Given the description of an element on the screen output the (x, y) to click on. 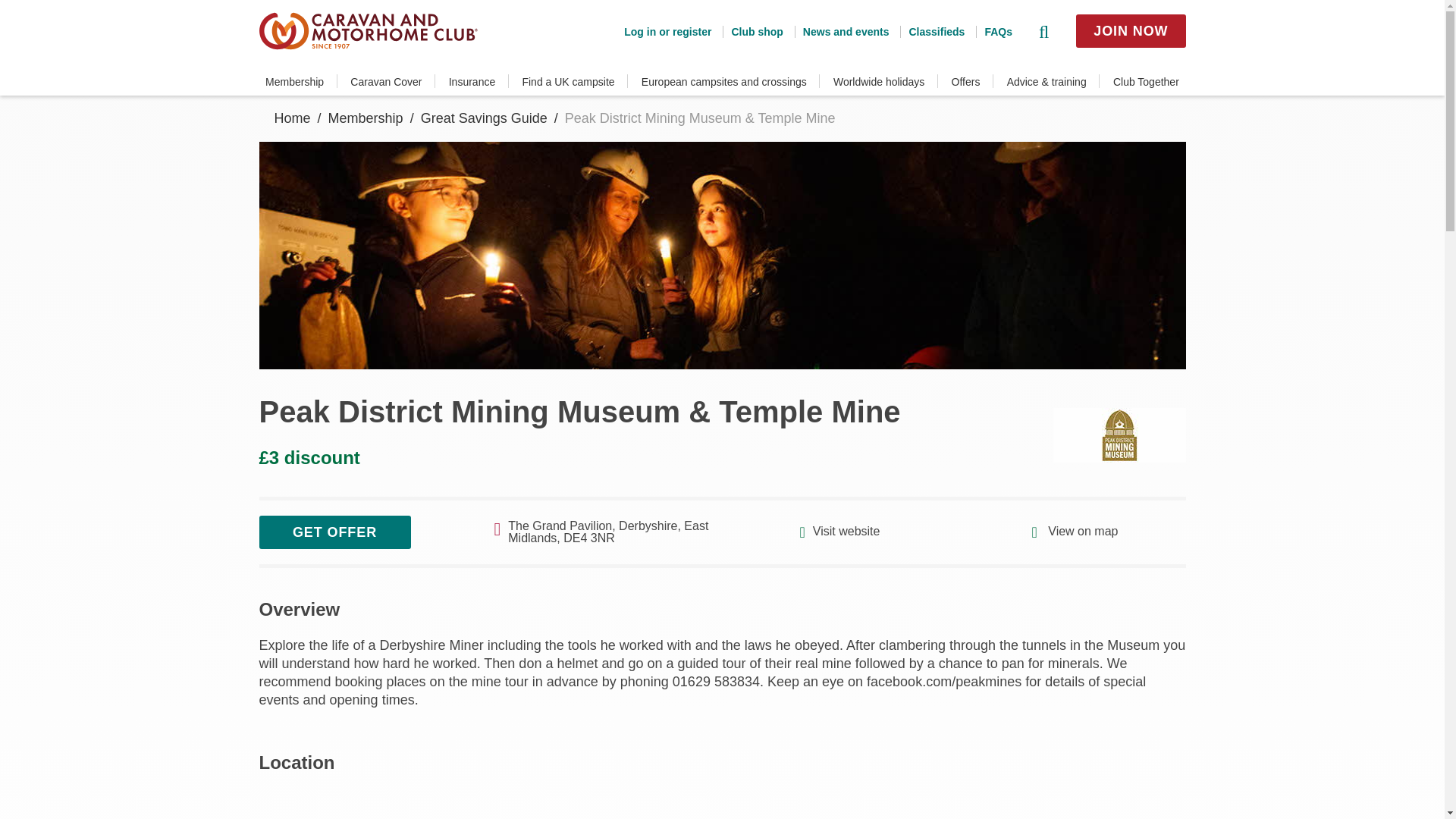
Log in or register (667, 31)
Club shop (752, 31)
JOIN NOW (1130, 30)
Log in or register (667, 31)
Membership (293, 81)
Classifieds (931, 31)
News and events (841, 31)
FAQs (993, 31)
Caravan Cover (386, 81)
